Given the description of an element on the screen output the (x, y) to click on. 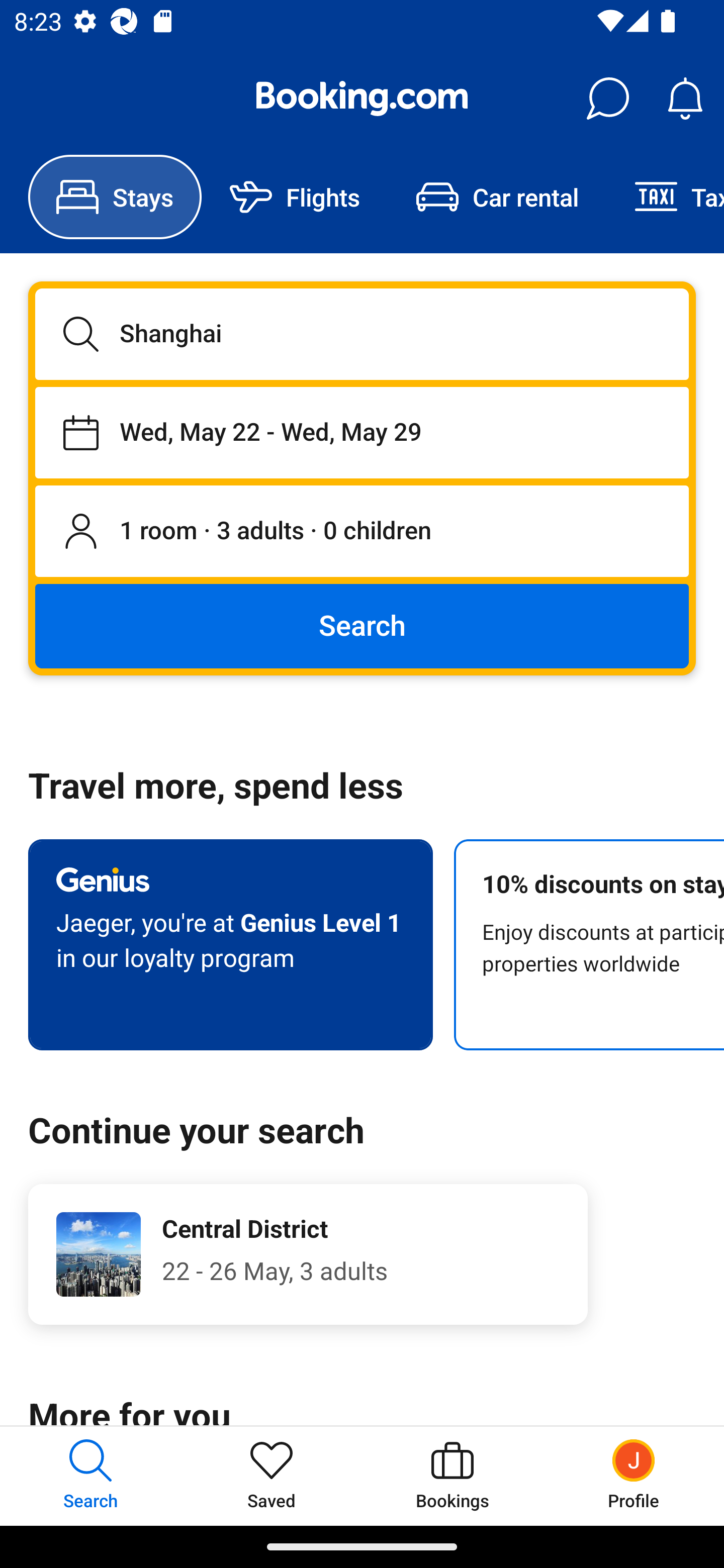
Messages (607, 98)
Notifications (685, 98)
Stays (114, 197)
Flights (294, 197)
Car rental (497, 197)
Taxi (665, 197)
Shanghai (361, 333)
Staying from Wed, May 22 until Wed, May 29 (361, 432)
1 room, 3 adults, 0 children (361, 531)
Search (361, 625)
Central District 22 - 26 May, 3 adults (307, 1253)
Saved (271, 1475)
Bookings (452, 1475)
Profile (633, 1475)
